Given the description of an element on the screen output the (x, y) to click on. 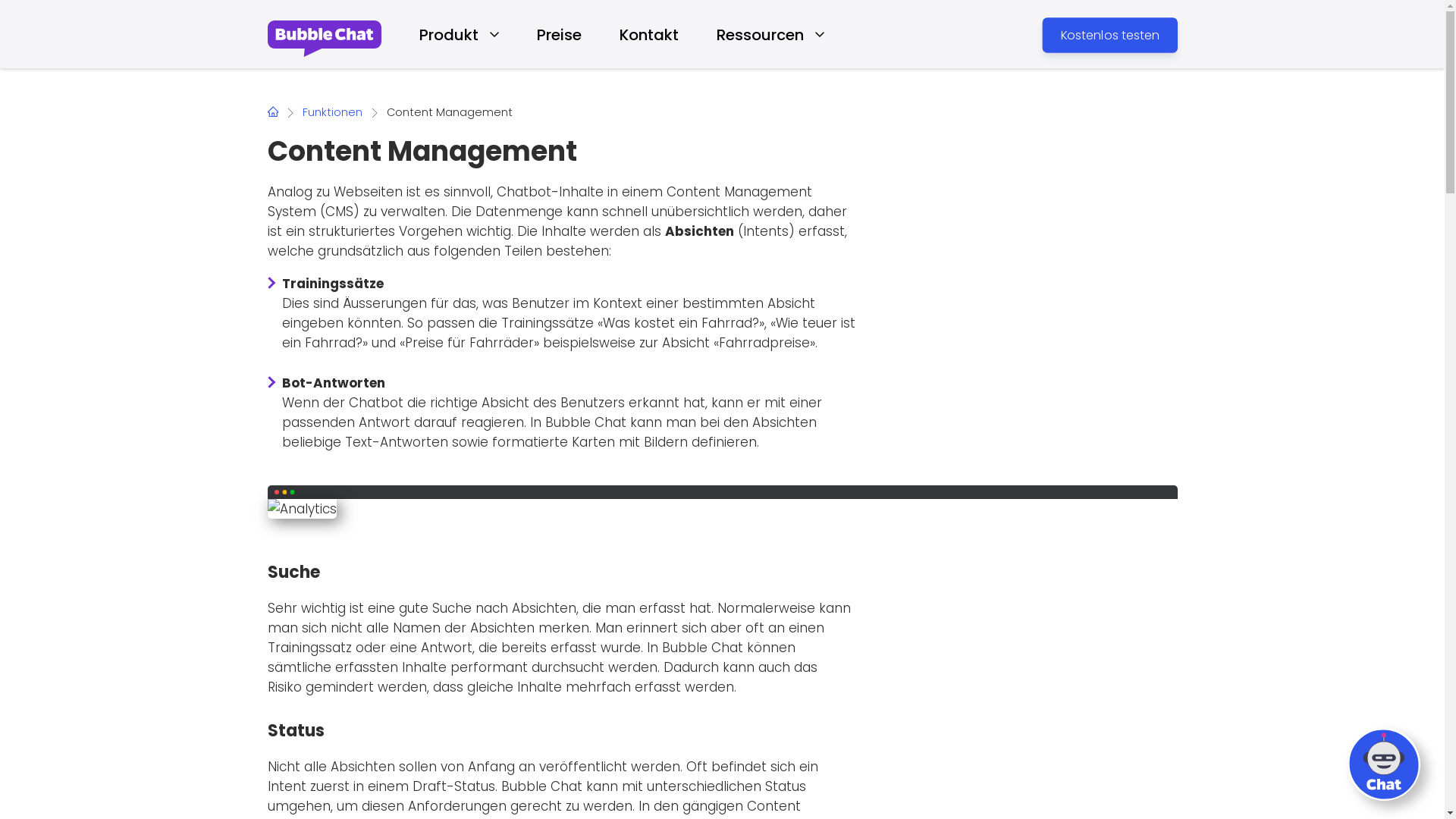
Kostenlos testen Element type: text (1126, 39)
Funktionen Element type: text (332, 112)
Preise Element type: text (558, 49)
Kontakt Element type: text (647, 49)
